Given the description of an element on the screen output the (x, y) to click on. 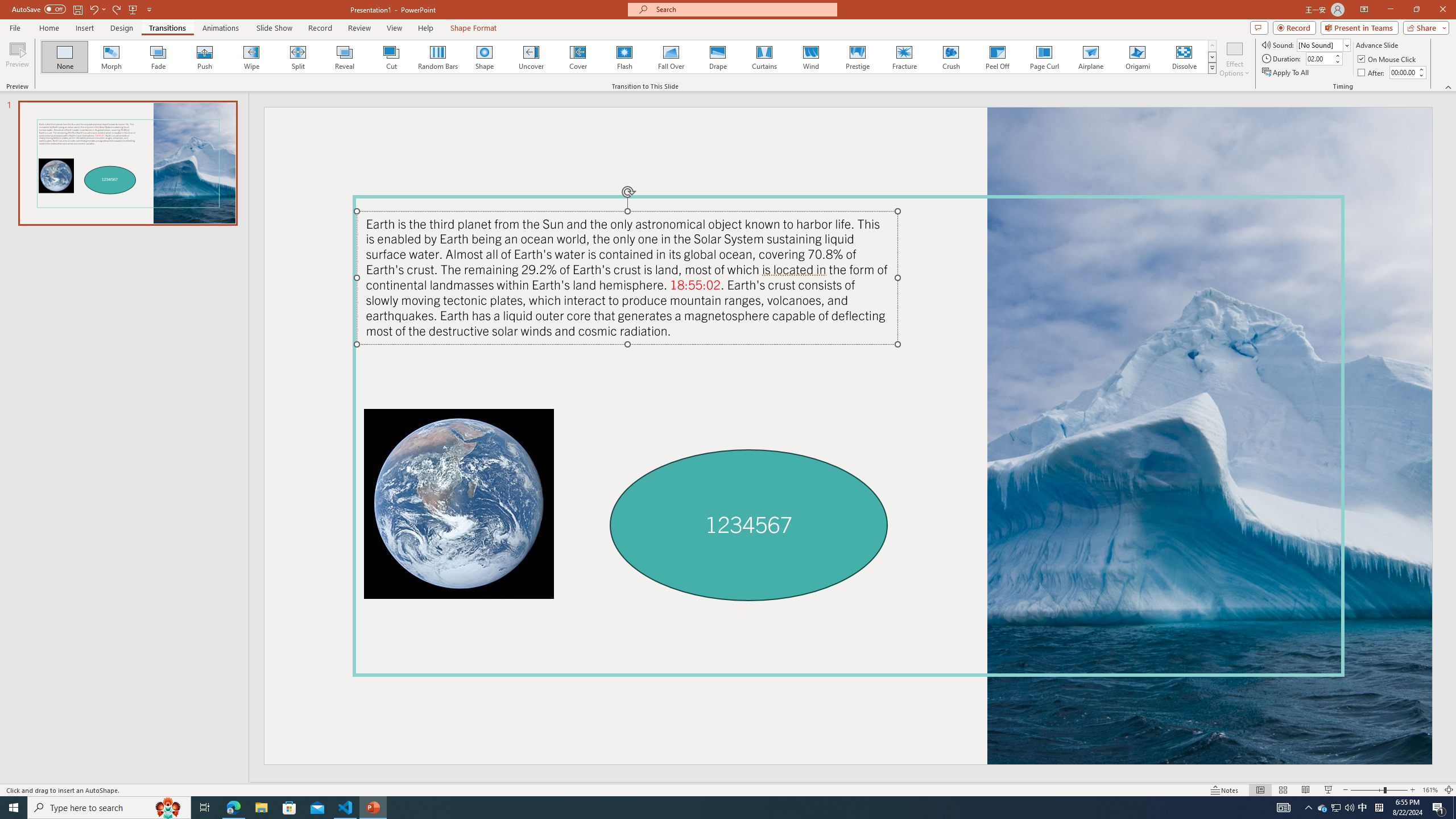
Airplane (1090, 56)
After (1372, 72)
Fade (158, 56)
